Given the description of an element on the screen output the (x, y) to click on. 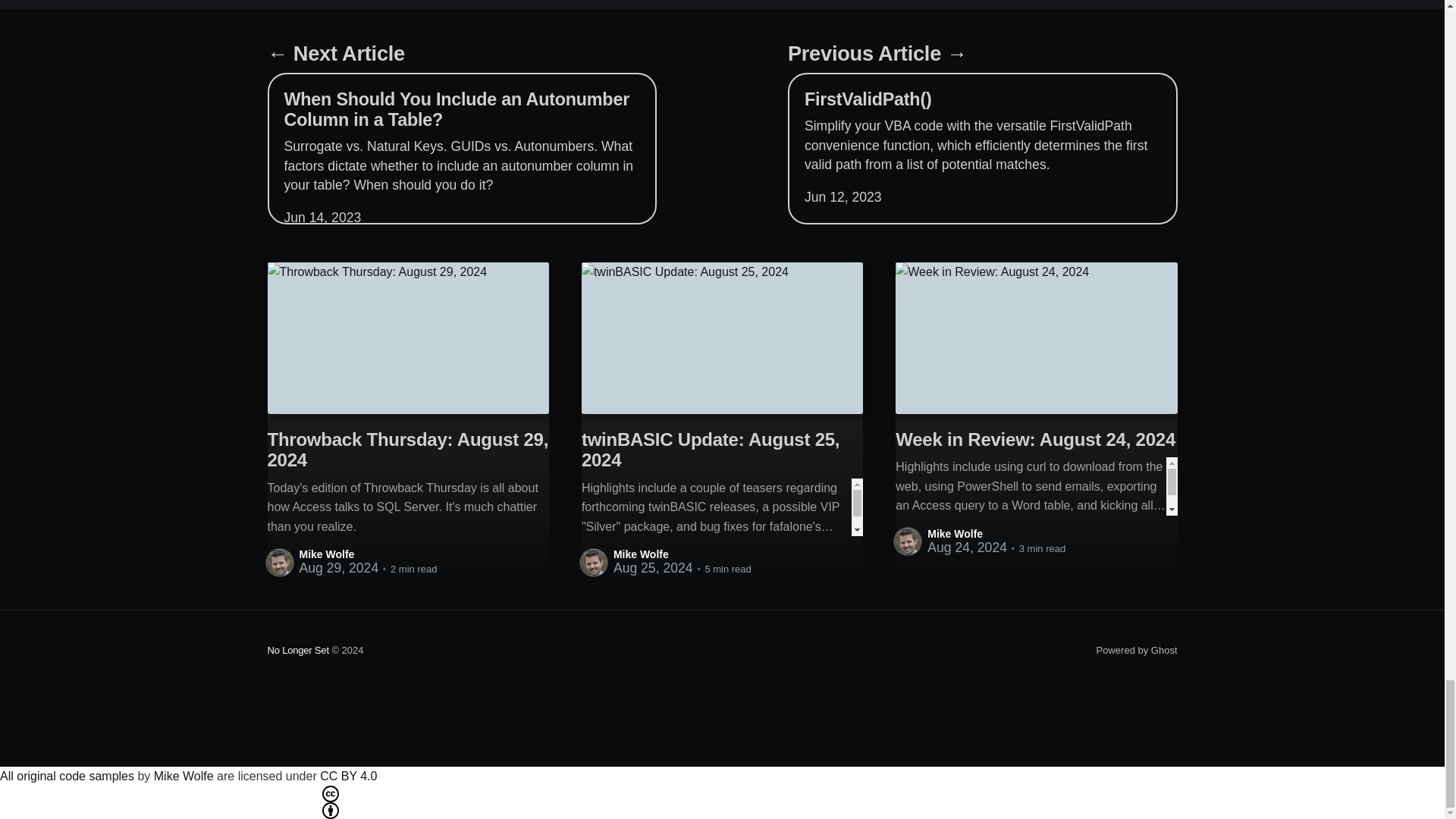
Mike Wolfe (325, 553)
